Given the description of an element on the screen output the (x, y) to click on. 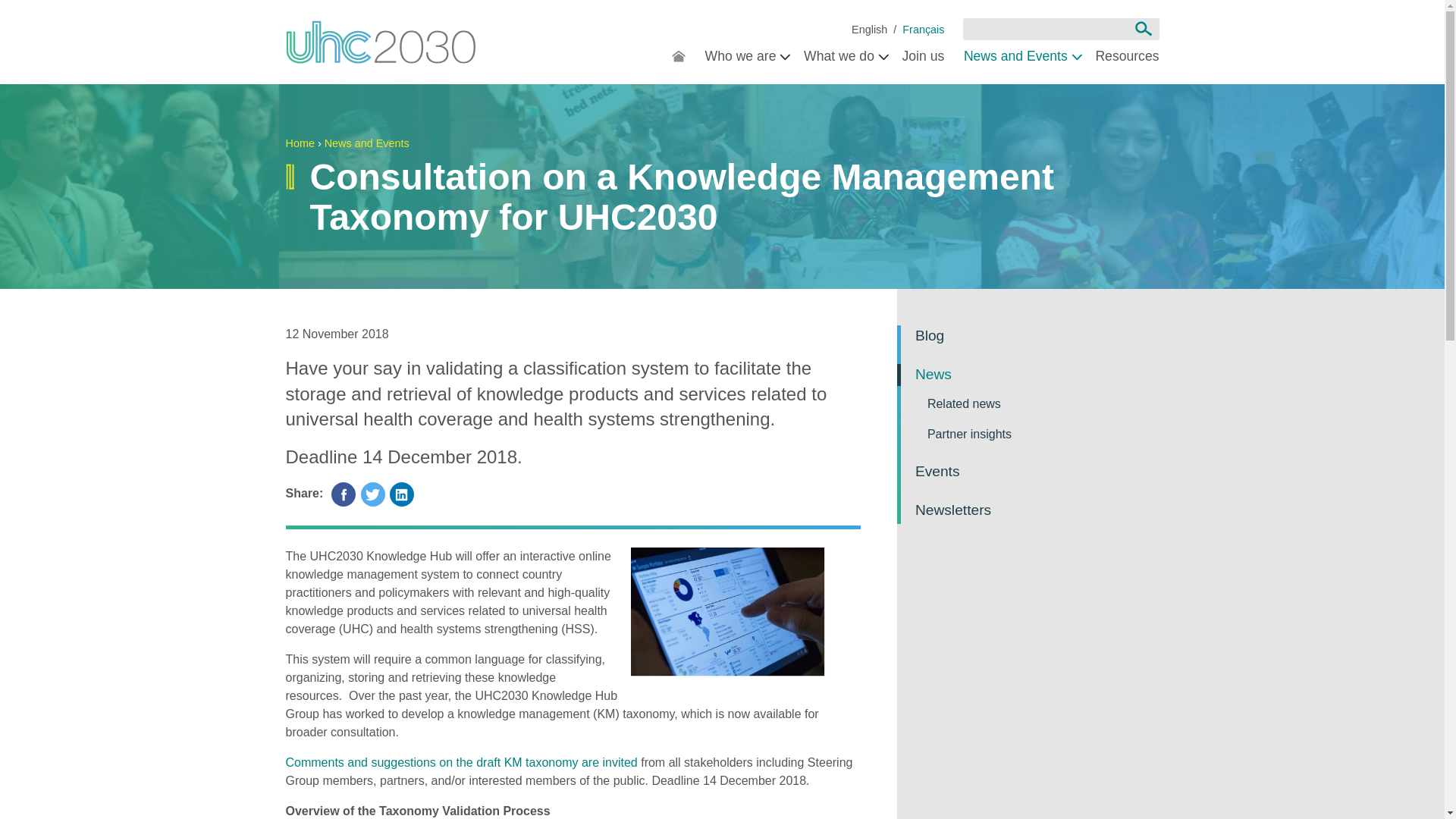
Article (922, 30)
Who we are (744, 57)
UHC2030 - UHC2030 (380, 42)
What we do (842, 57)
Who we are (744, 57)
English (868, 30)
Search (1142, 29)
News (868, 30)
